Given the description of an element on the screen output the (x, y) to click on. 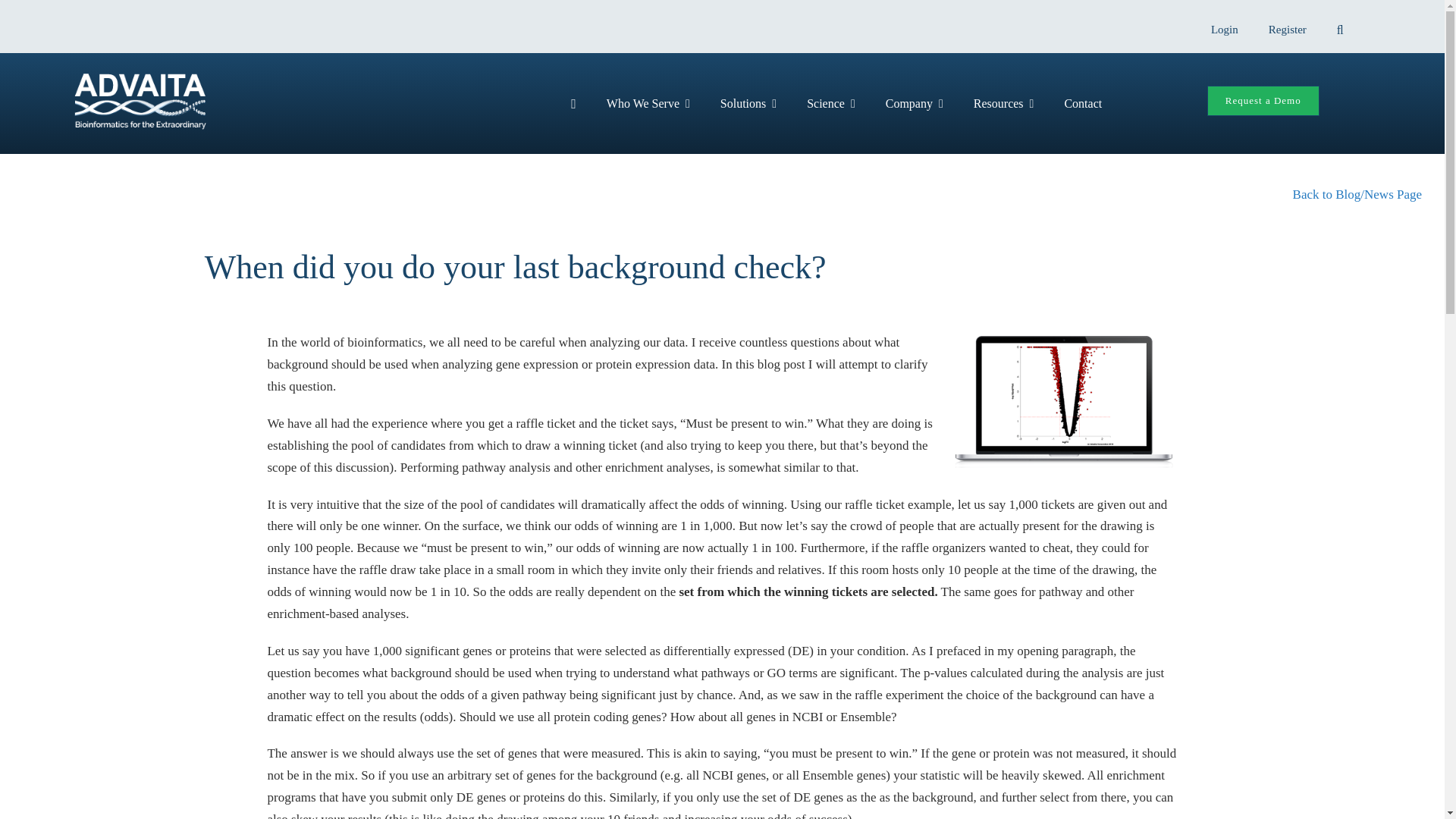
Science (831, 103)
Company (914, 103)
Who We Serve (648, 103)
Solutions (748, 103)
Resources (1003, 103)
